Given the description of an element on the screen output the (x, y) to click on. 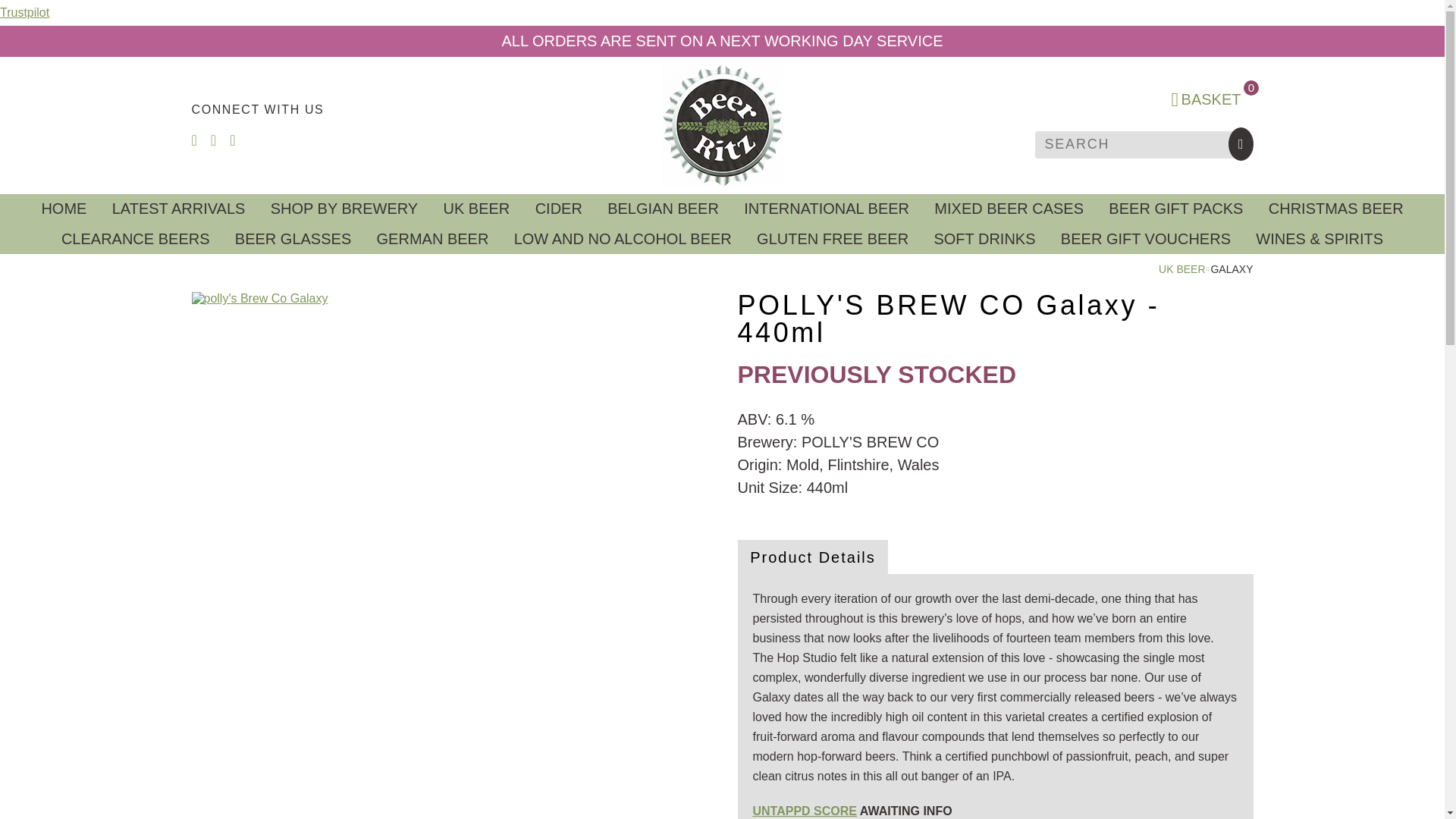
SHOP BY BREWERY (343, 209)
MIXED BEER CASES (1008, 209)
BEER GIFT PACKS (1175, 209)
BEER GLASSES (293, 238)
GERMAN BEER (432, 238)
CIDER (558, 209)
CLEARANCE BEERS (135, 238)
Trustpilot (24, 11)
LOW AND NO ALCOHOL BEER (622, 238)
UK BEER (1181, 268)
